Given the description of an element on the screen output the (x, y) to click on. 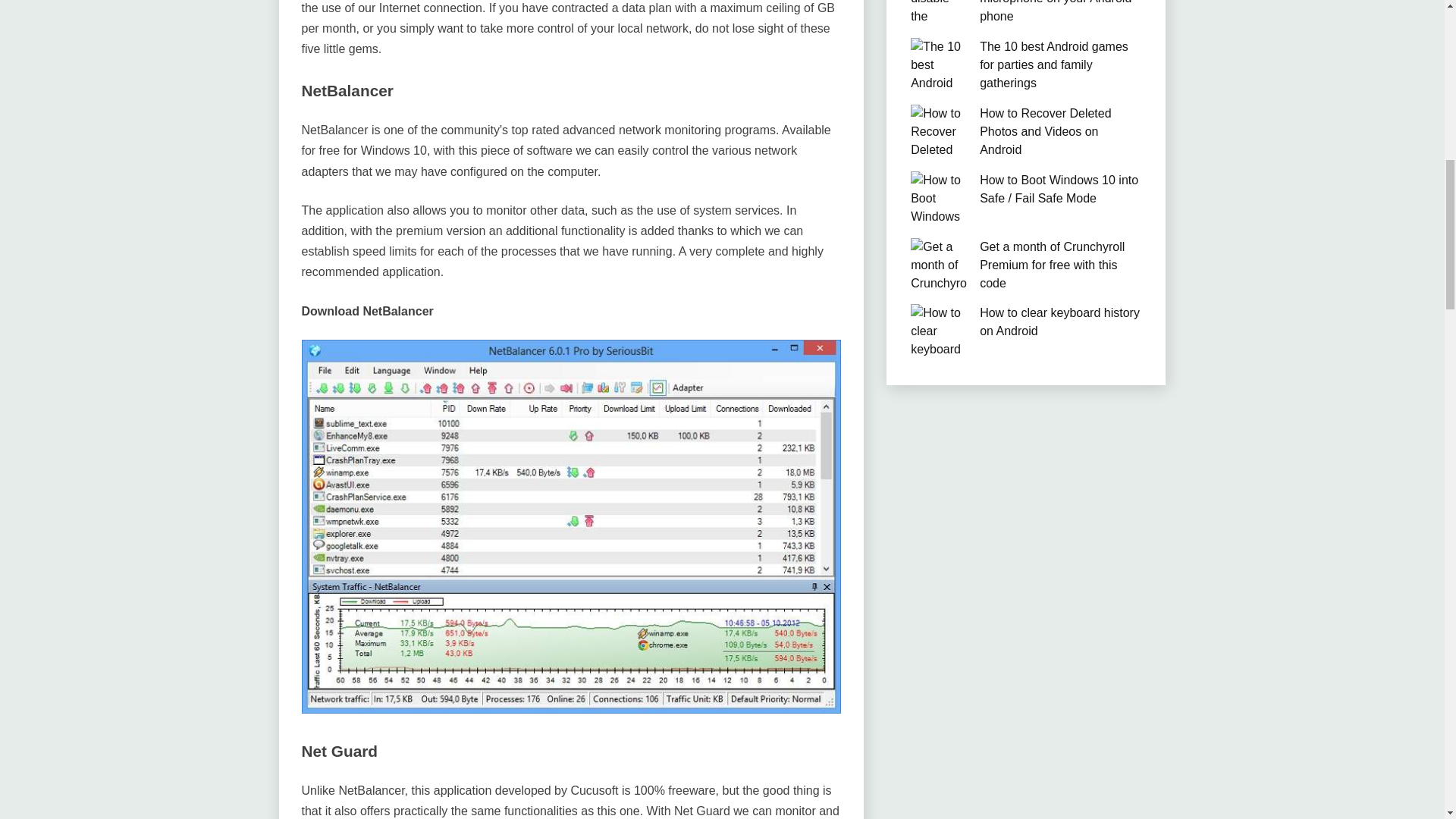
Get a month of Crunchyroll Premium for free with this code (1051, 264)
How to Recover Deleted Photos and Videos on Android (1044, 131)
How to disable the microphone on your Android phone (1055, 11)
The 10 best Android games for parties and family gatherings (1053, 64)
